Given the description of an element on the screen output the (x, y) to click on. 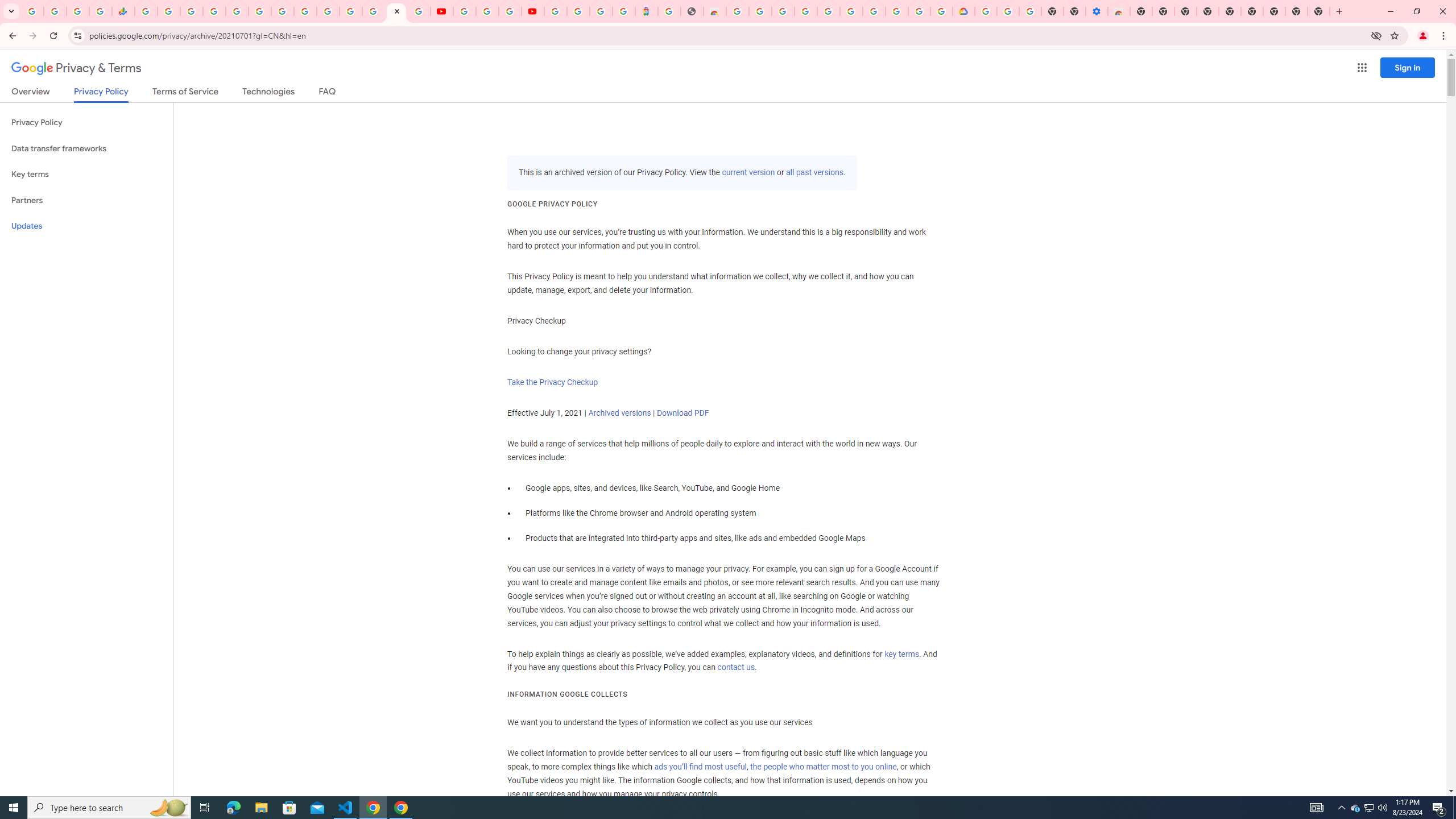
Sign in - Google Accounts (373, 11)
Google Account Help (486, 11)
Atour Hotel - Google hotels (646, 11)
Sign in - Google Accounts (214, 11)
Create your Google Account (919, 11)
Android TV Policies and Guidelines - Transparency Center (282, 11)
all past versions (813, 172)
Sign in - Google Accounts (328, 11)
Sign in - Google Accounts (555, 11)
